Given the description of an element on the screen output the (x, y) to click on. 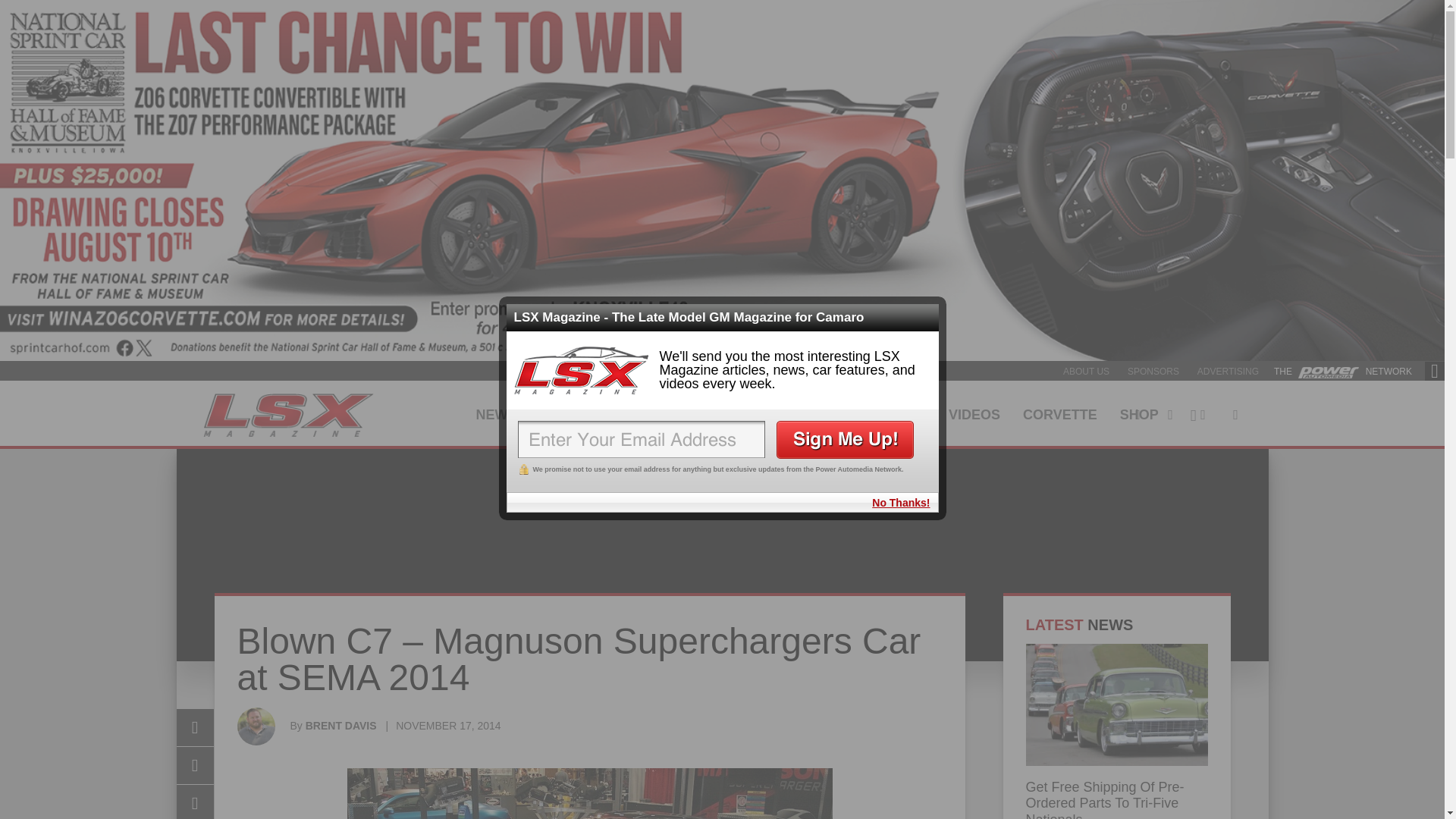
FEATURES (575, 412)
Sign me up (845, 439)
SPONSORS (1152, 371)
ADVERTISING (1227, 371)
3rd party ad content (722, 520)
NEWS (495, 412)
ABOUT US (1085, 371)
